Given the description of an element on the screen output the (x, y) to click on. 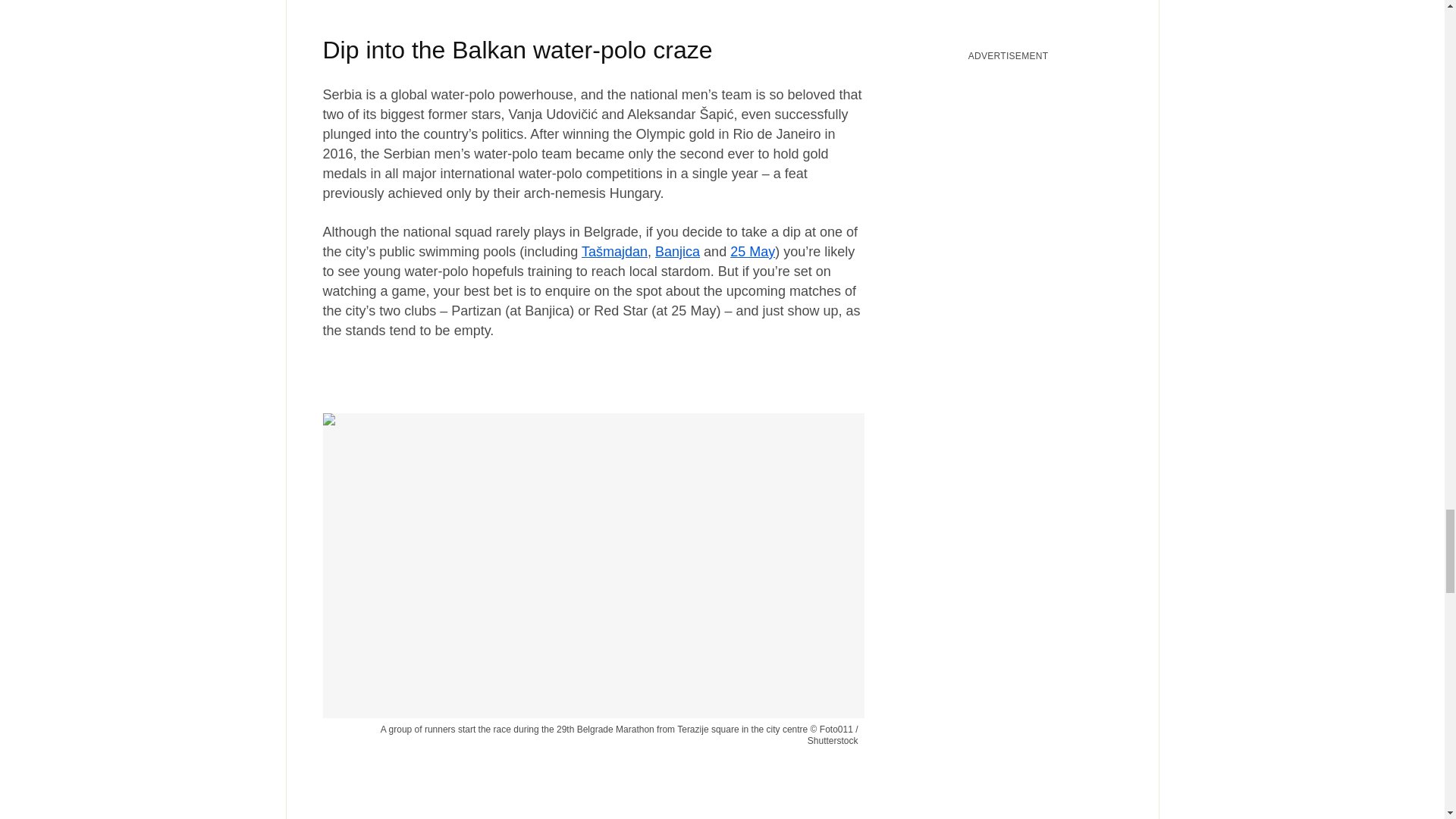
25 May (752, 251)
Banjica (677, 251)
